Given the description of an element on the screen output the (x, y) to click on. 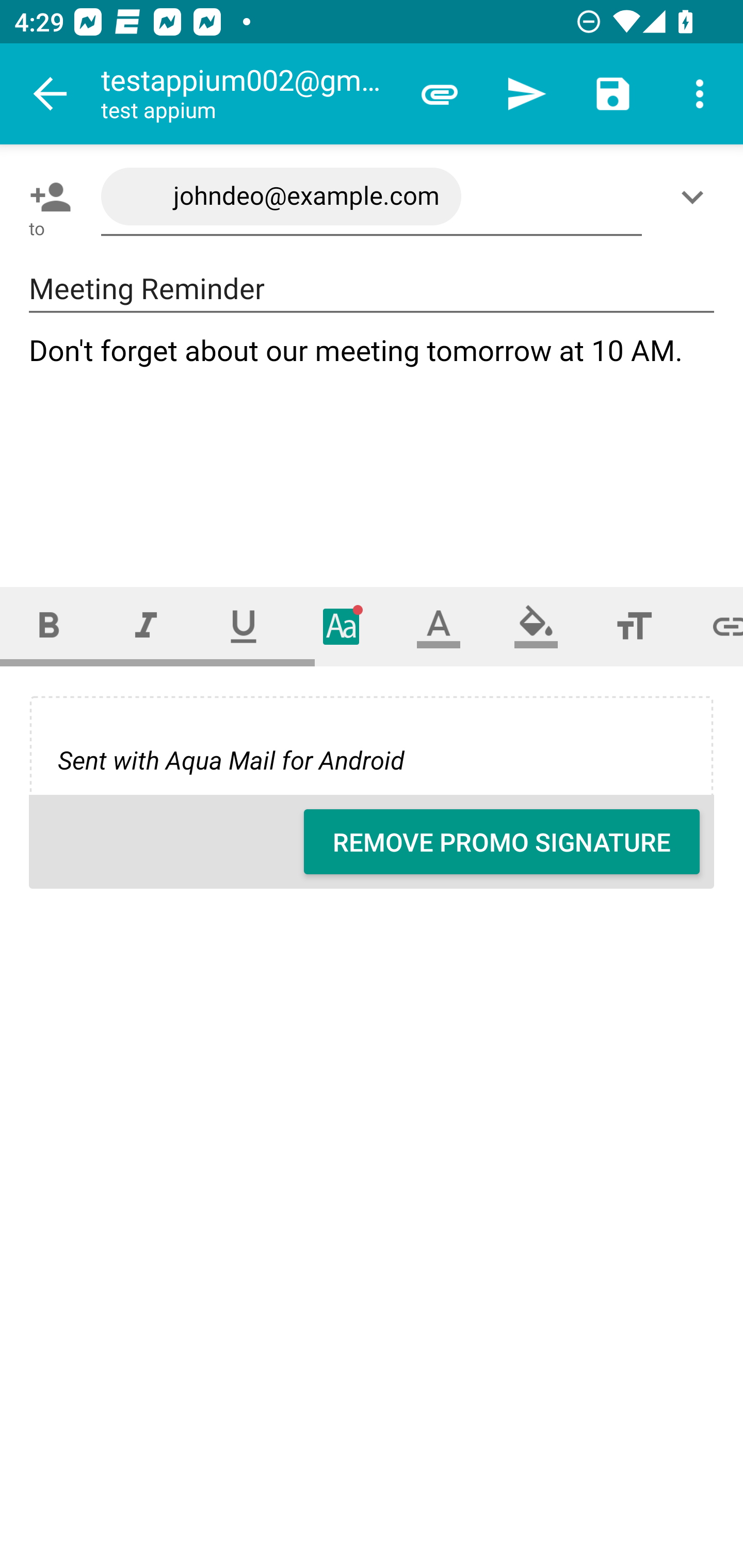
Navigate up (50, 93)
testappium002@gmail.com test appium (248, 93)
Attach (439, 93)
Send (525, 93)
Save (612, 93)
More options (699, 93)
johndeo@example.com,  (371, 197)
Pick contact: To (46, 196)
Show/Add CC/BCC (696, 196)
Meeting Reminder (371, 288)
Don't forget about our meeting tomorrow at 10 AM. (372, 442)
Bold (48, 626)
Italic (145, 626)
Underline (243, 626)
Typeface (font) (341, 626)
Text color (438, 626)
Fill color (536, 626)
Font size (633, 626)
Set link (712, 626)
REMOVE PROMO SIGNATURE (501, 841)
